Given the description of an element on the screen output the (x, y) to click on. 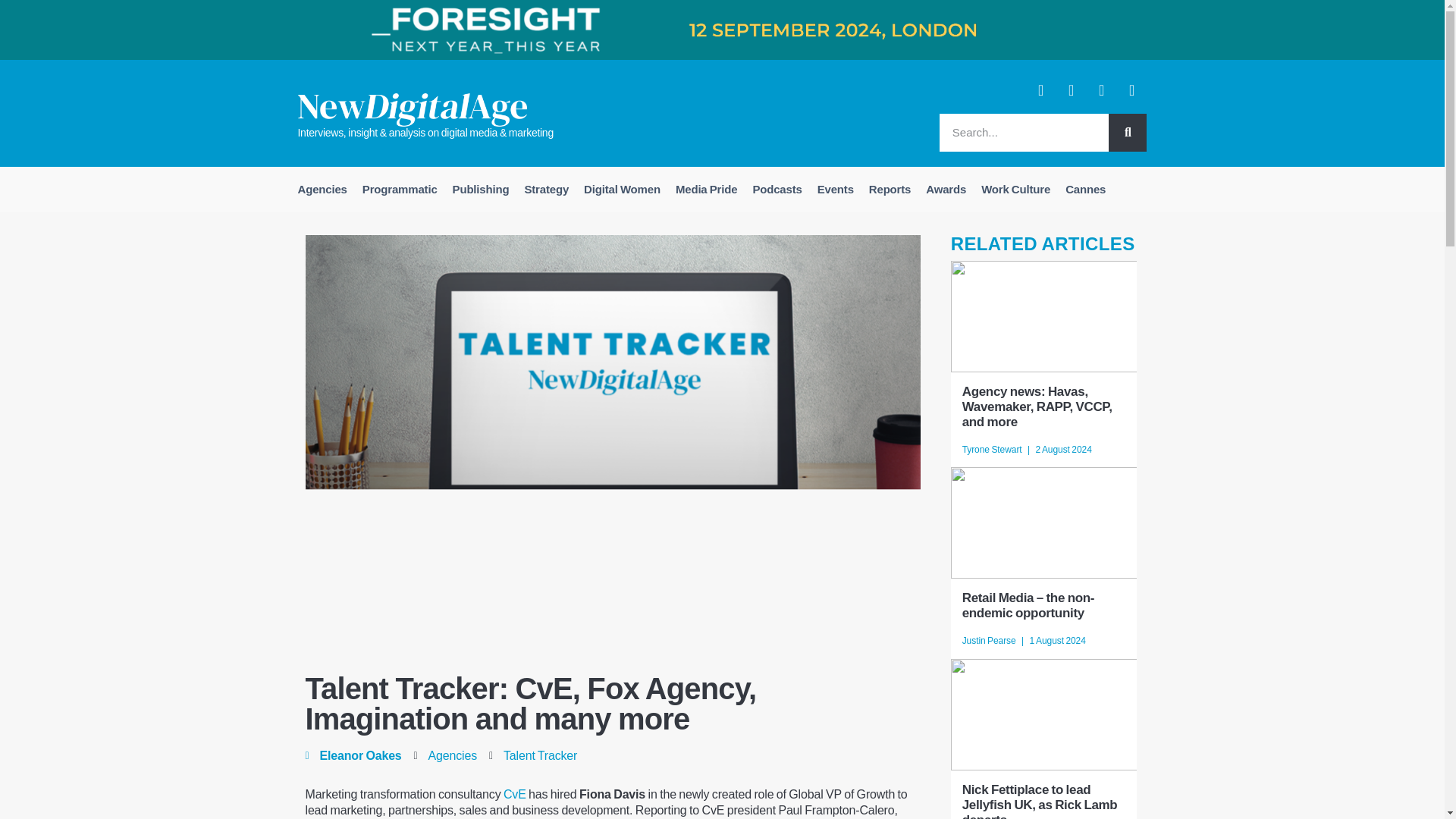
Reports (889, 189)
Work Culture (1016, 189)
Awards (946, 189)
Media Pride (706, 189)
Strategy (546, 189)
Publishing (480, 189)
Programmatic (400, 189)
Podcasts (776, 189)
Cannes (1085, 189)
Events (835, 189)
Digital Women (622, 189)
Agencies (321, 189)
